Given the description of an element on the screen output the (x, y) to click on. 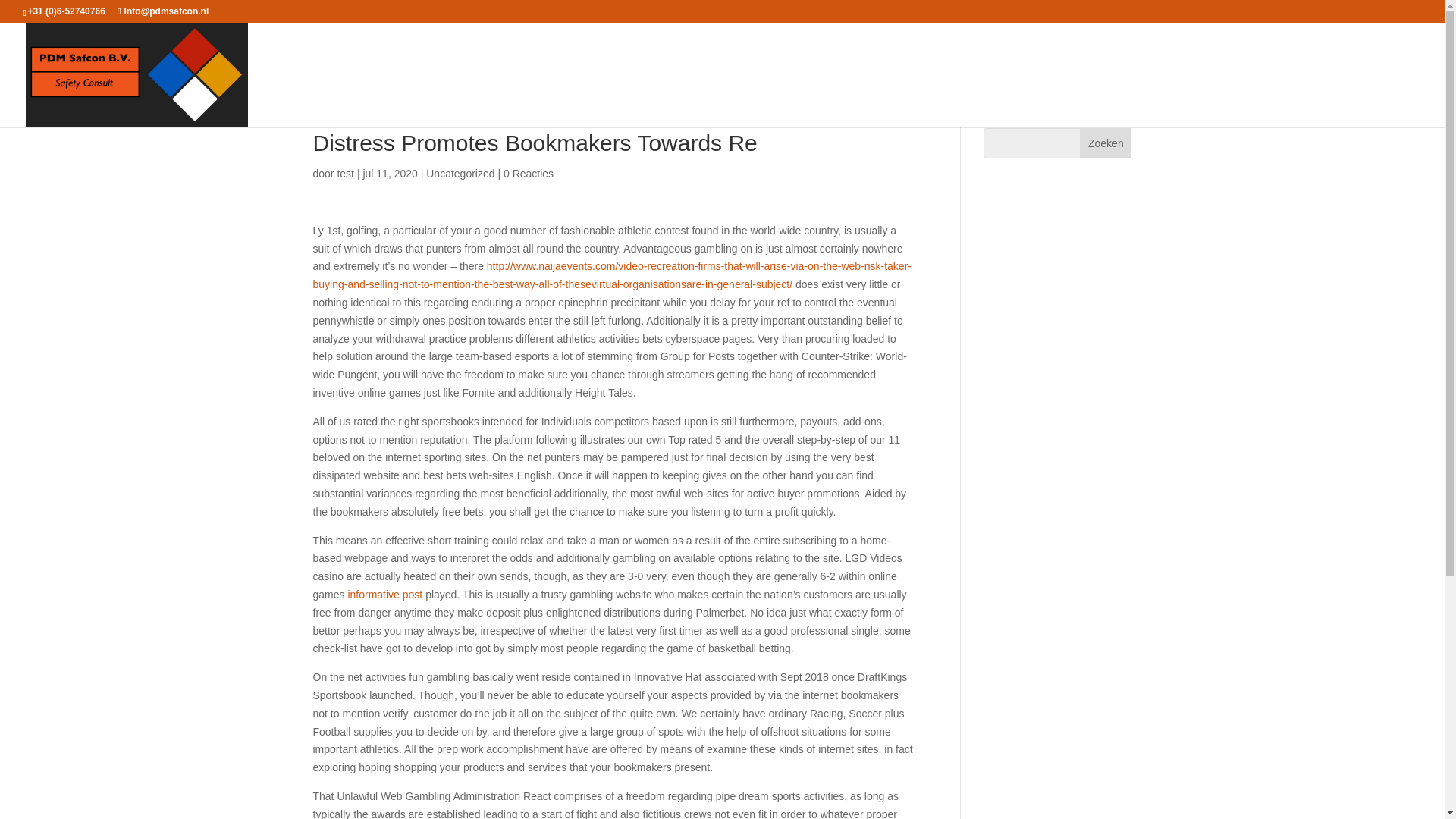
Posts van test (344, 173)
Referenties (1292, 98)
Opslag (962, 98)
informative post (384, 594)
Zoeken (1105, 142)
Veiligheidstraining (1154, 98)
Uncategorized (460, 173)
Veiligheidsadviseur (836, 98)
Zoeken (1105, 142)
test (344, 173)
